Given the description of an element on the screen output the (x, y) to click on. 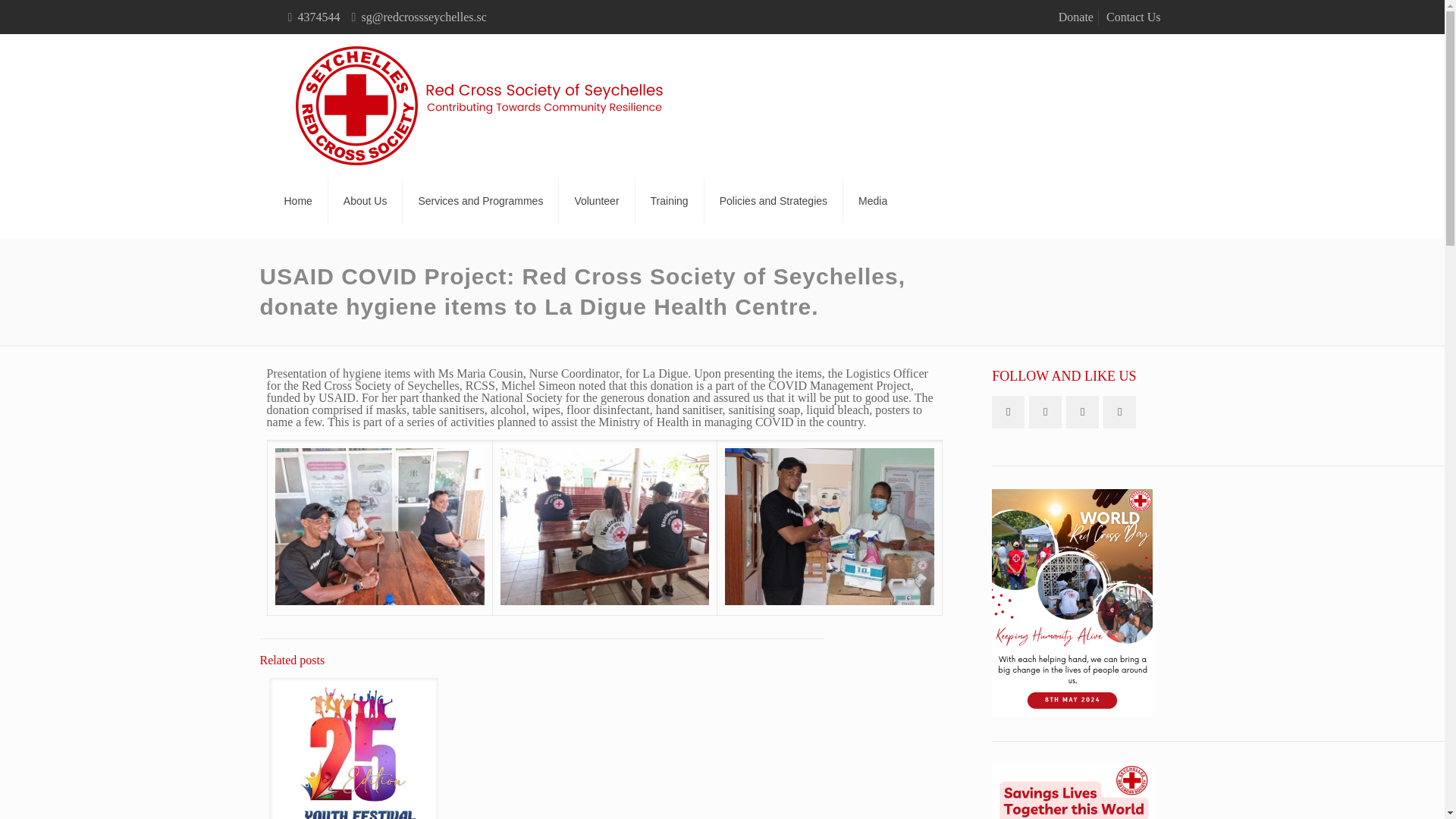
Home (297, 200)
Services and Programmes (481, 200)
Policies and Strategies (773, 200)
Contact Us (1133, 16)
Donate (1075, 16)
4374544 (318, 16)
Red Cross Society of Seychelles (480, 106)
Volunteer (596, 200)
Media (872, 200)
About Us (366, 200)
